Given the description of an element on the screen output the (x, y) to click on. 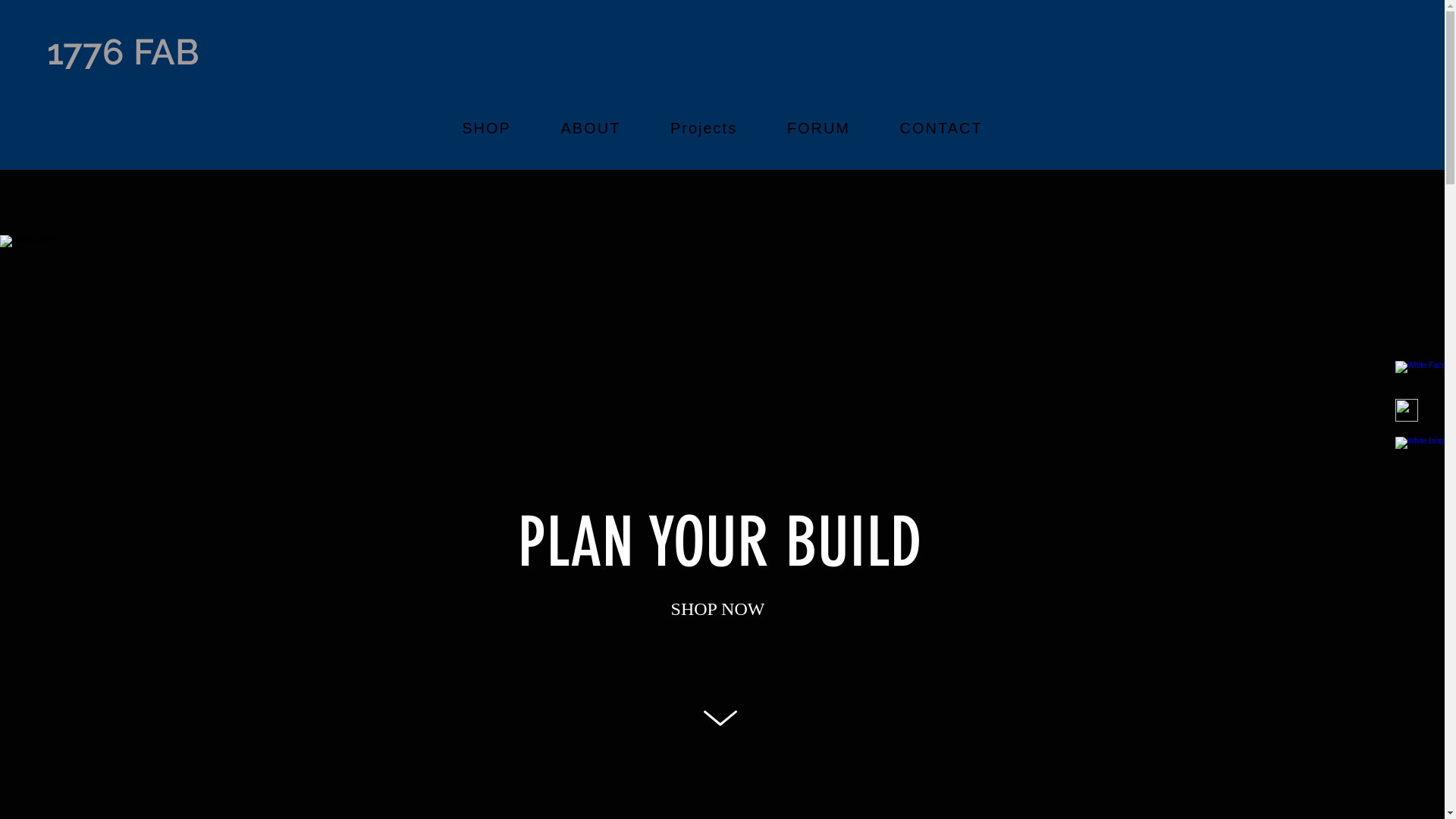
ABOUT Element type: text (590, 128)
CONTACT Element type: text (941, 128)
Projects Element type: text (703, 128)
SHOP Element type: text (485, 128)
FORUM Element type: text (818, 128)
SHOP NOW Element type: text (717, 609)
